Given the description of an element on the screen output the (x, y) to click on. 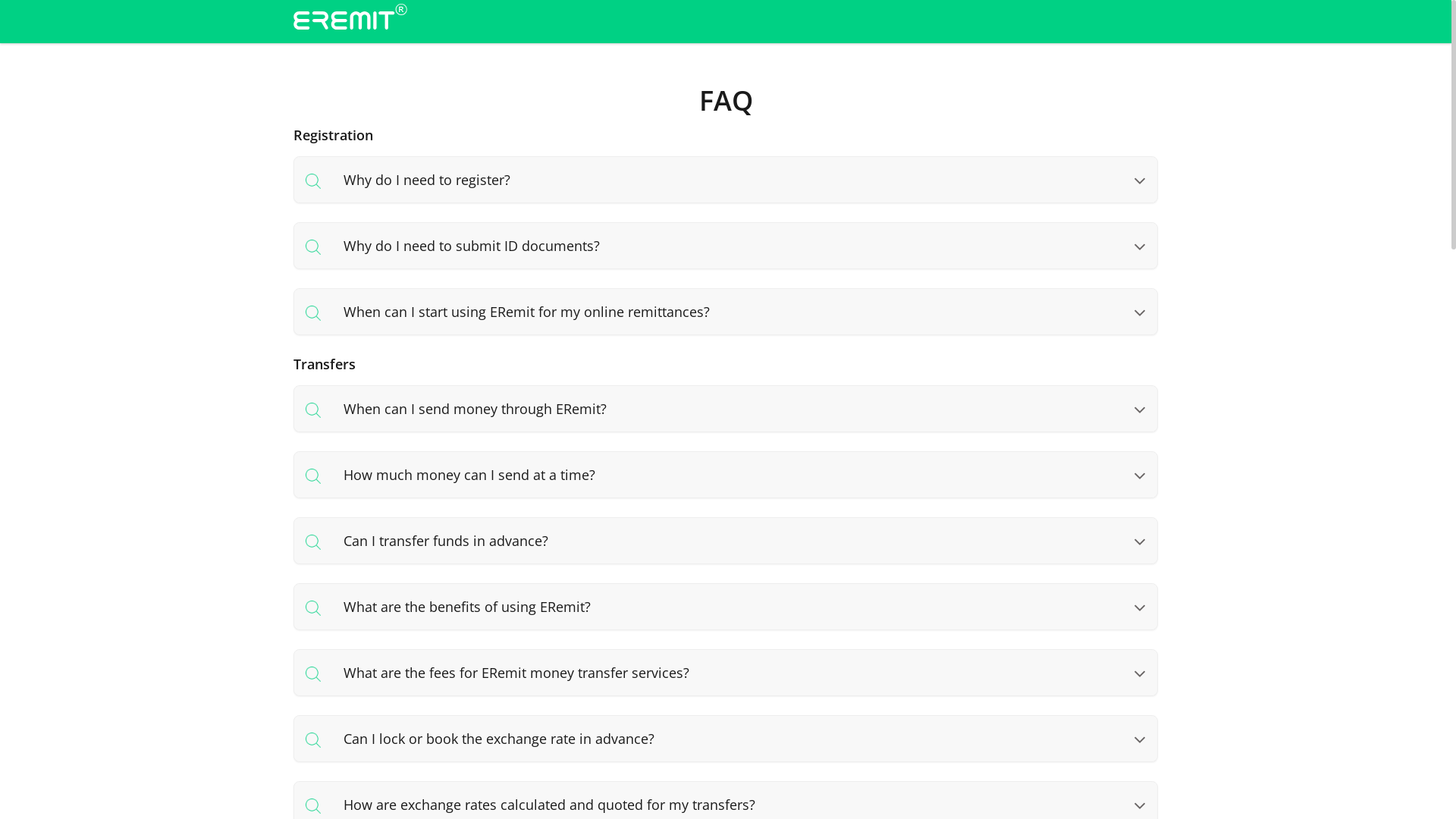
What are the benefits of using ERemit? Element type: text (725, 609)
Why do I need to register? Element type: text (725, 182)
When can I start using ERemit for my online remittances? Element type: text (725, 314)
Why do I need to submit ID documents? Element type: text (725, 248)
Can I lock or book the exchange rate in advance? Element type: text (725, 741)
When can I send money through ERemit? Element type: text (725, 411)
How much money can I send at a time? Element type: text (725, 477)
Can I transfer funds in advance? Element type: text (725, 543)
What are the fees for ERemit money transfer services? Element type: text (725, 675)
